Given the description of an element on the screen output the (x, y) to click on. 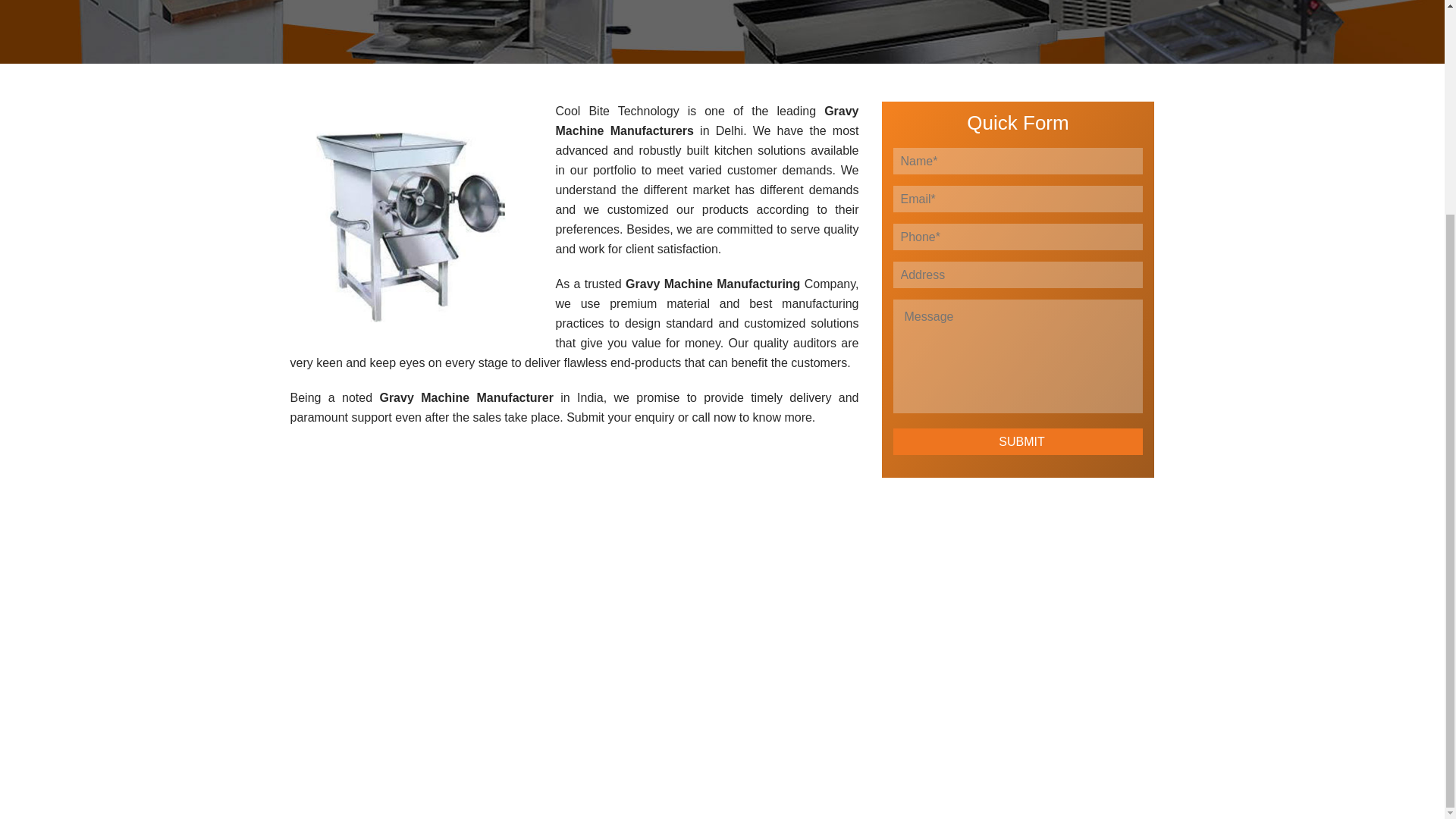
submit (1017, 441)
